Given the description of an element on the screen output the (x, y) to click on. 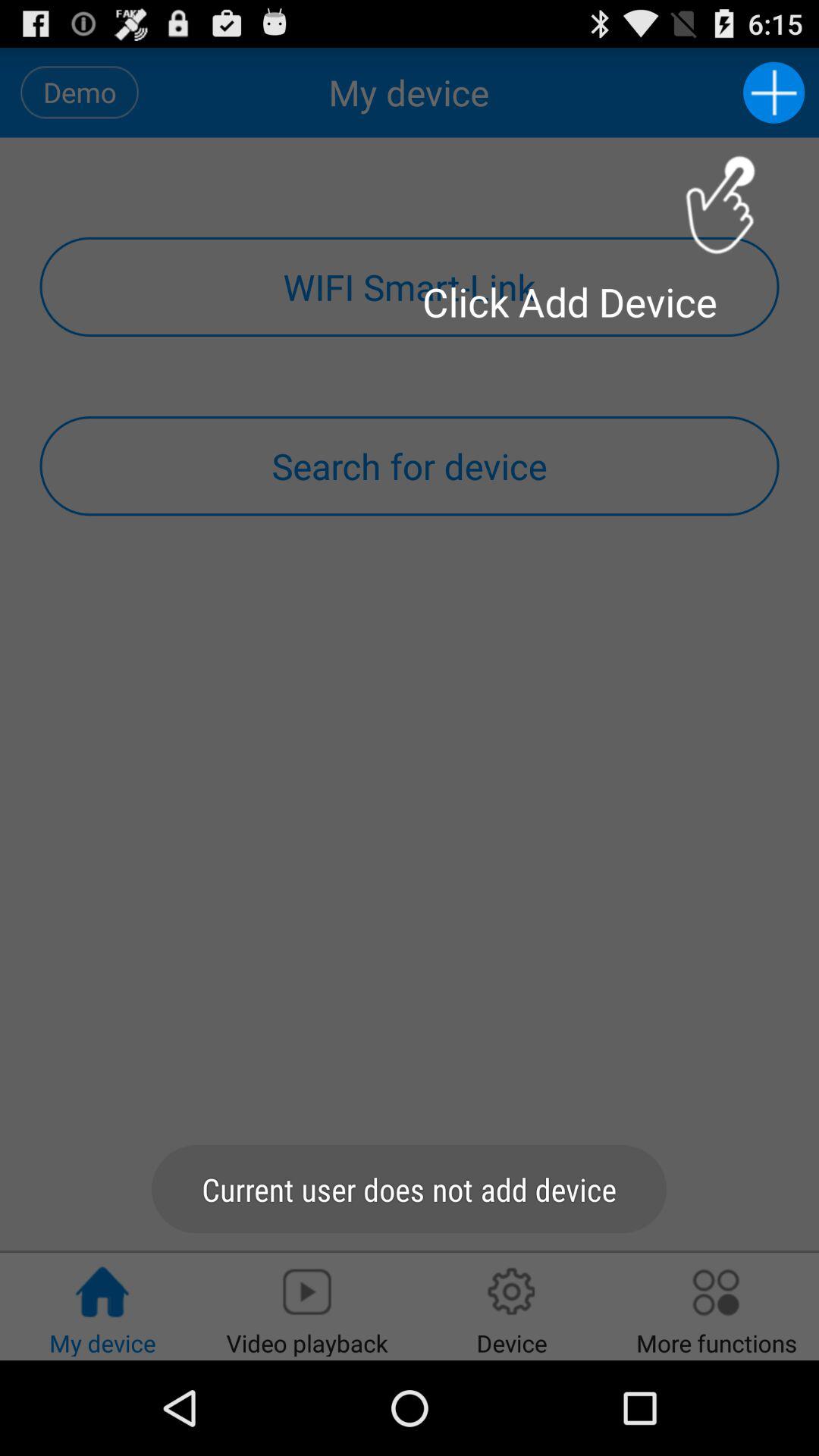
click on the icon above the text more functions (716, 1291)
click on instruction icon just above click add device (719, 204)
go to search for device (409, 465)
